Given the description of an element on the screen output the (x, y) to click on. 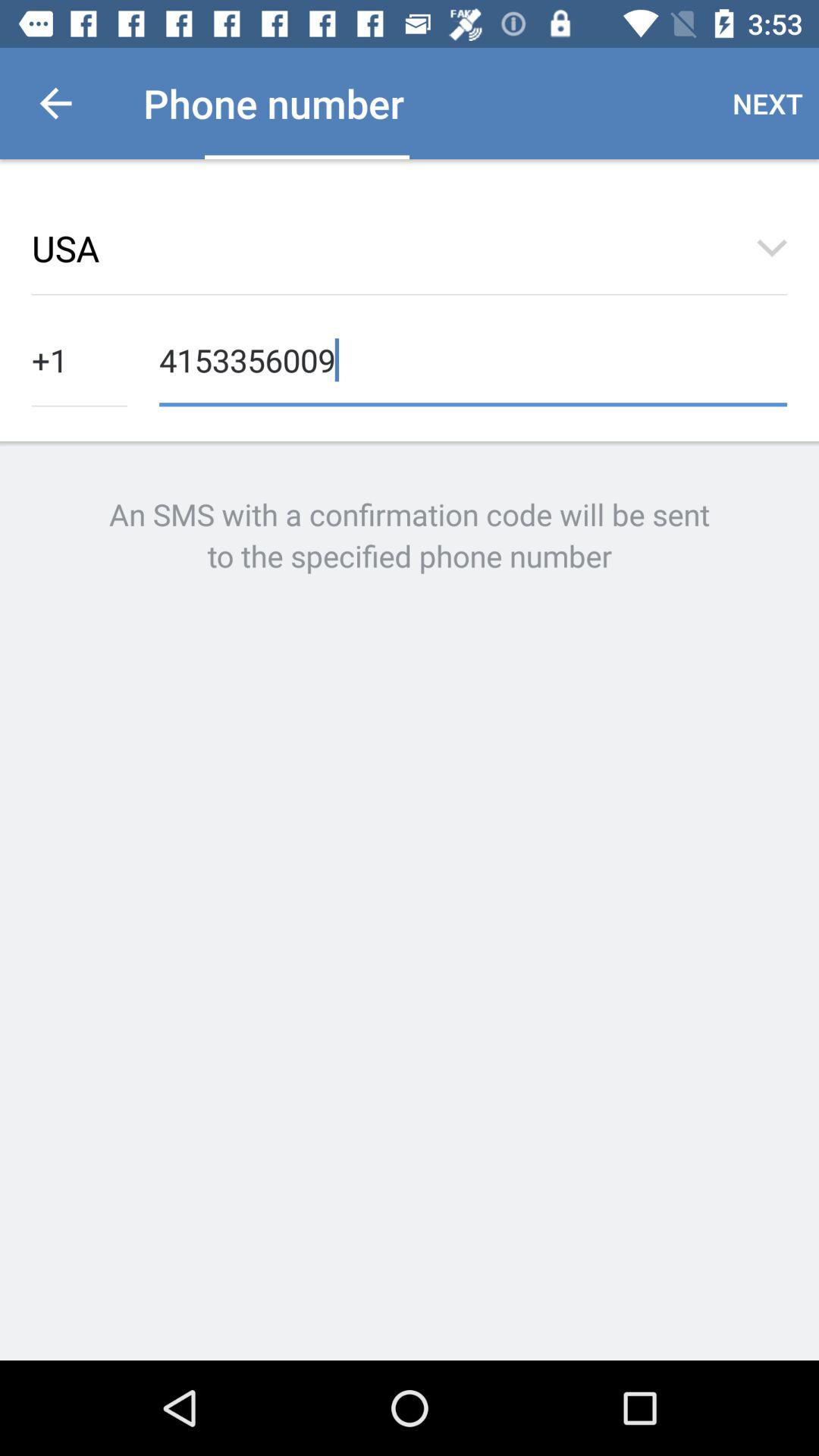
flip to +1 icon (79, 358)
